Given the description of an element on the screen output the (x, y) to click on. 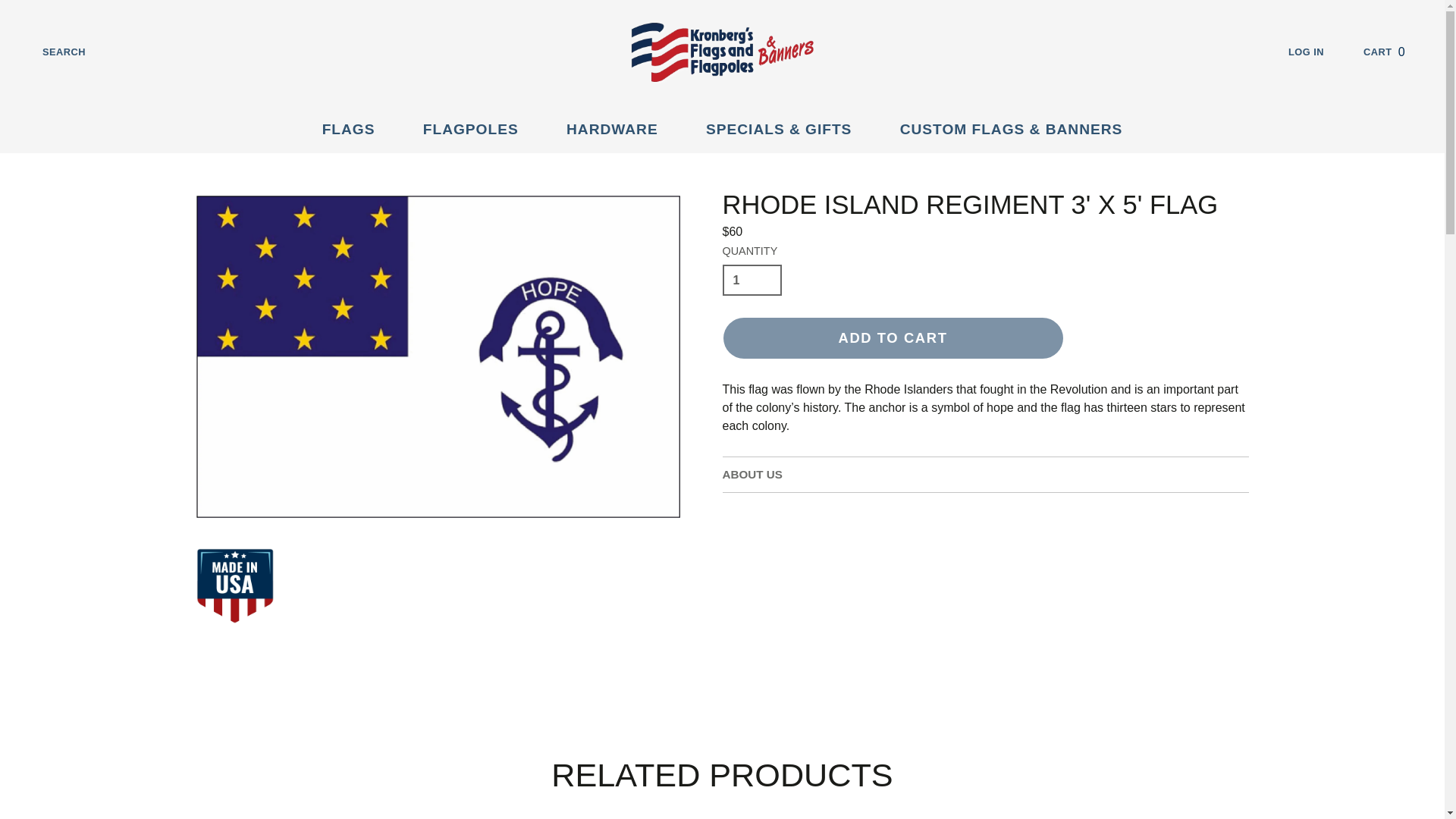
LOG IN (1318, 52)
SEARCH (1394, 52)
FLAGS (51, 52)
